Given the description of an element on the screen output the (x, y) to click on. 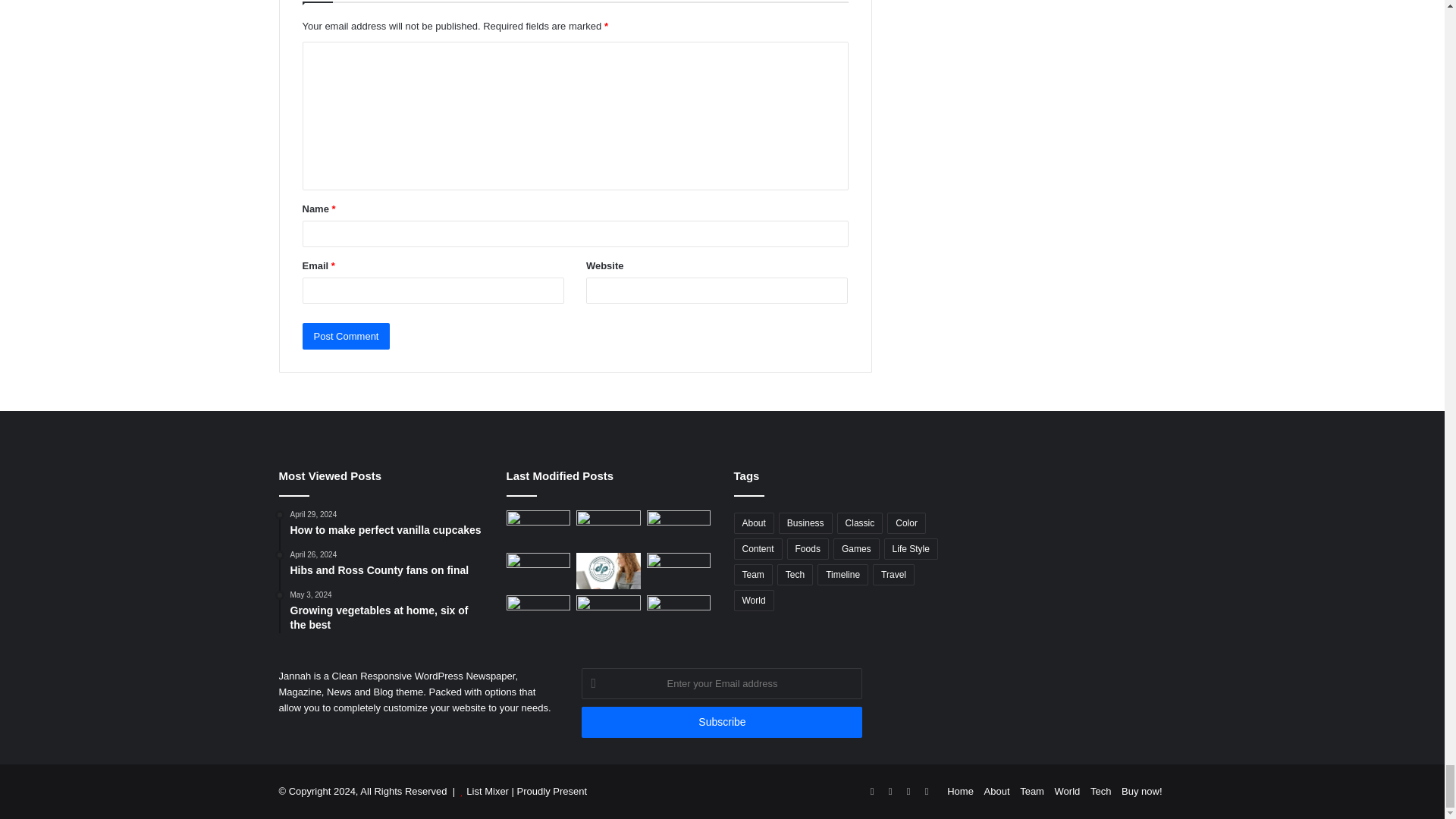
Post Comment (345, 335)
Subscribe (720, 721)
